Given the description of an element on the screen output the (x, y) to click on. 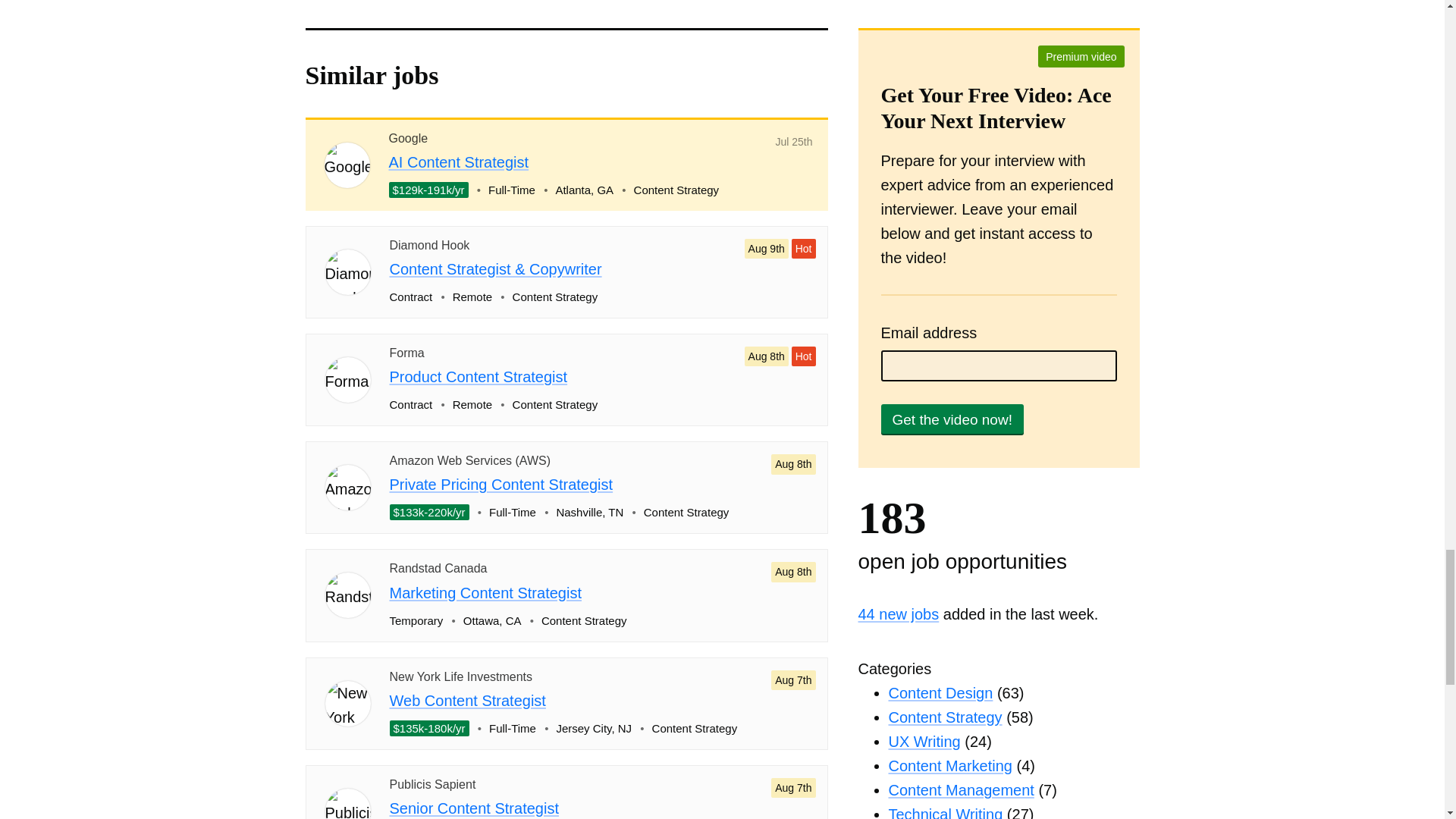
Content Marketing (949, 765)
Get the video now! (951, 419)
Product Content Strategist (478, 376)
Private Pricing Content Strategist (501, 484)
Marketing Content Strategist (485, 592)
Content Management (960, 790)
AI Content Strategist (458, 161)
Technical Writing (945, 812)
Content Design (940, 692)
Content Strategy (945, 717)
